Given the description of an element on the screen output the (x, y) to click on. 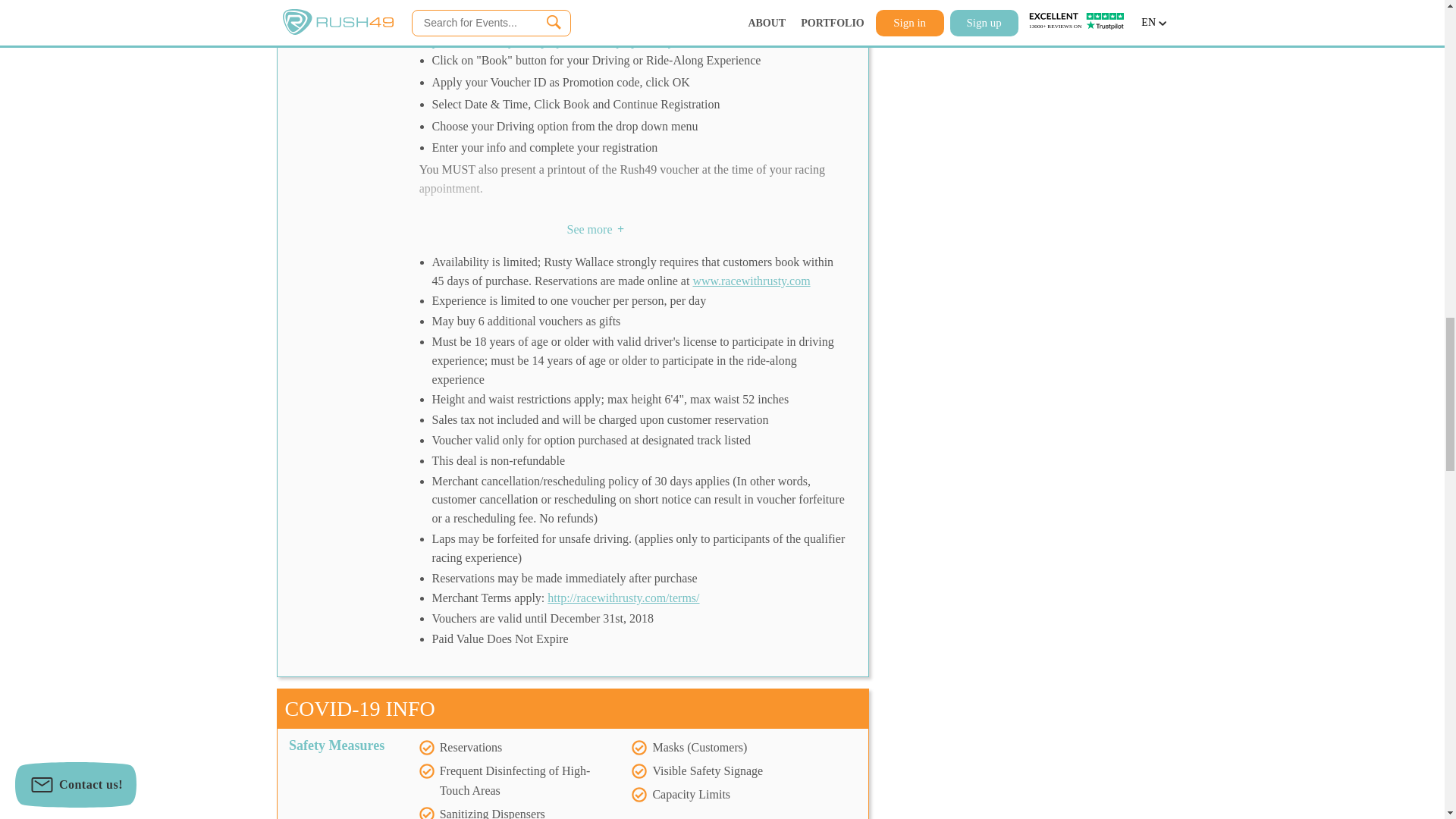
www.racewithrusty.com (751, 280)
